Given the description of an element on the screen output the (x, y) to click on. 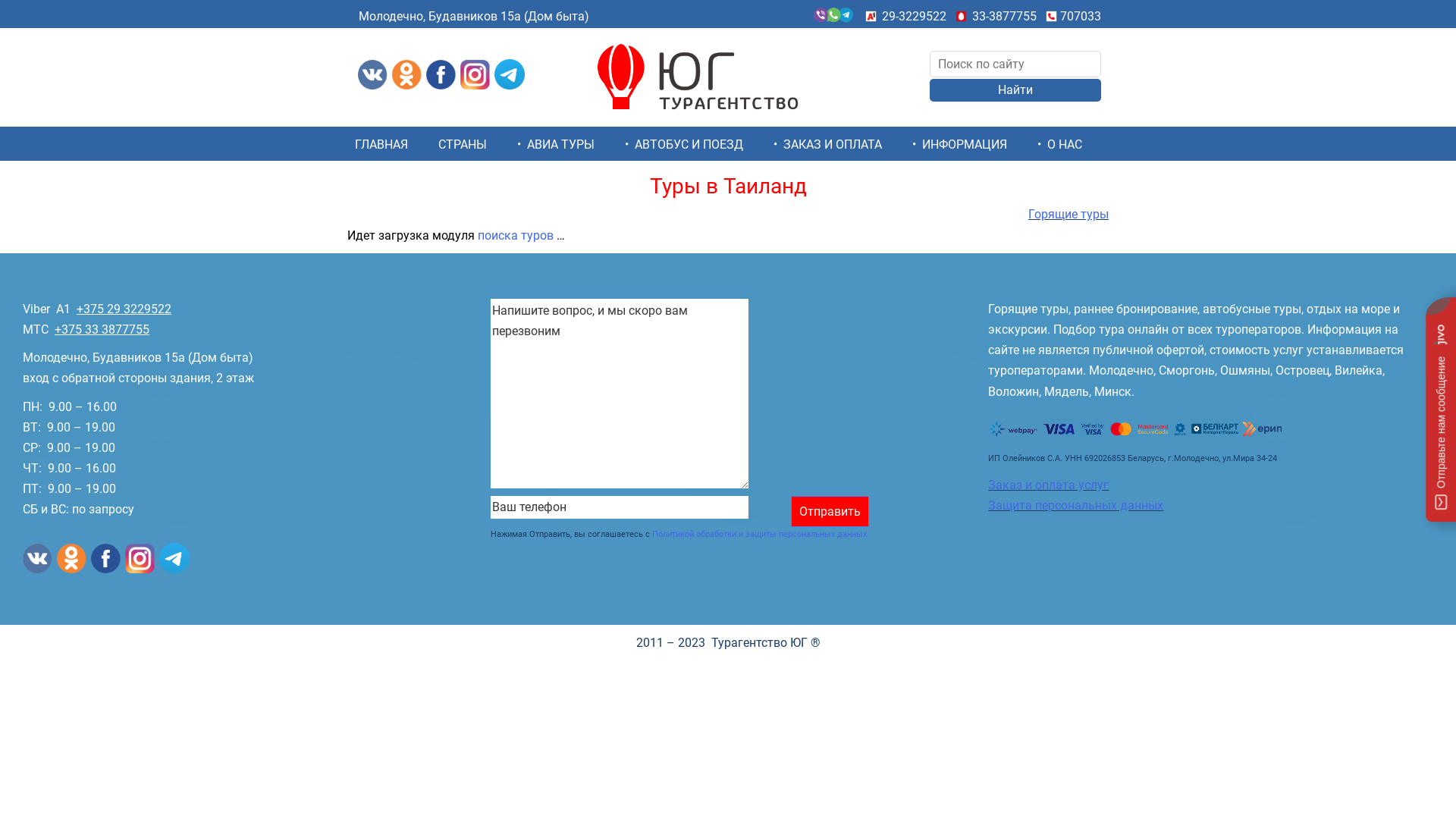
Viber Element type: text (36, 308)
33-3877755 Element type: text (1004, 16)
707033 Element type: text (1080, 16)
29-3229522 Element type: text (913, 16)
  A1  +375 29 3229522 Element type: text (110, 308)
